Given the description of an element on the screen output the (x, y) to click on. 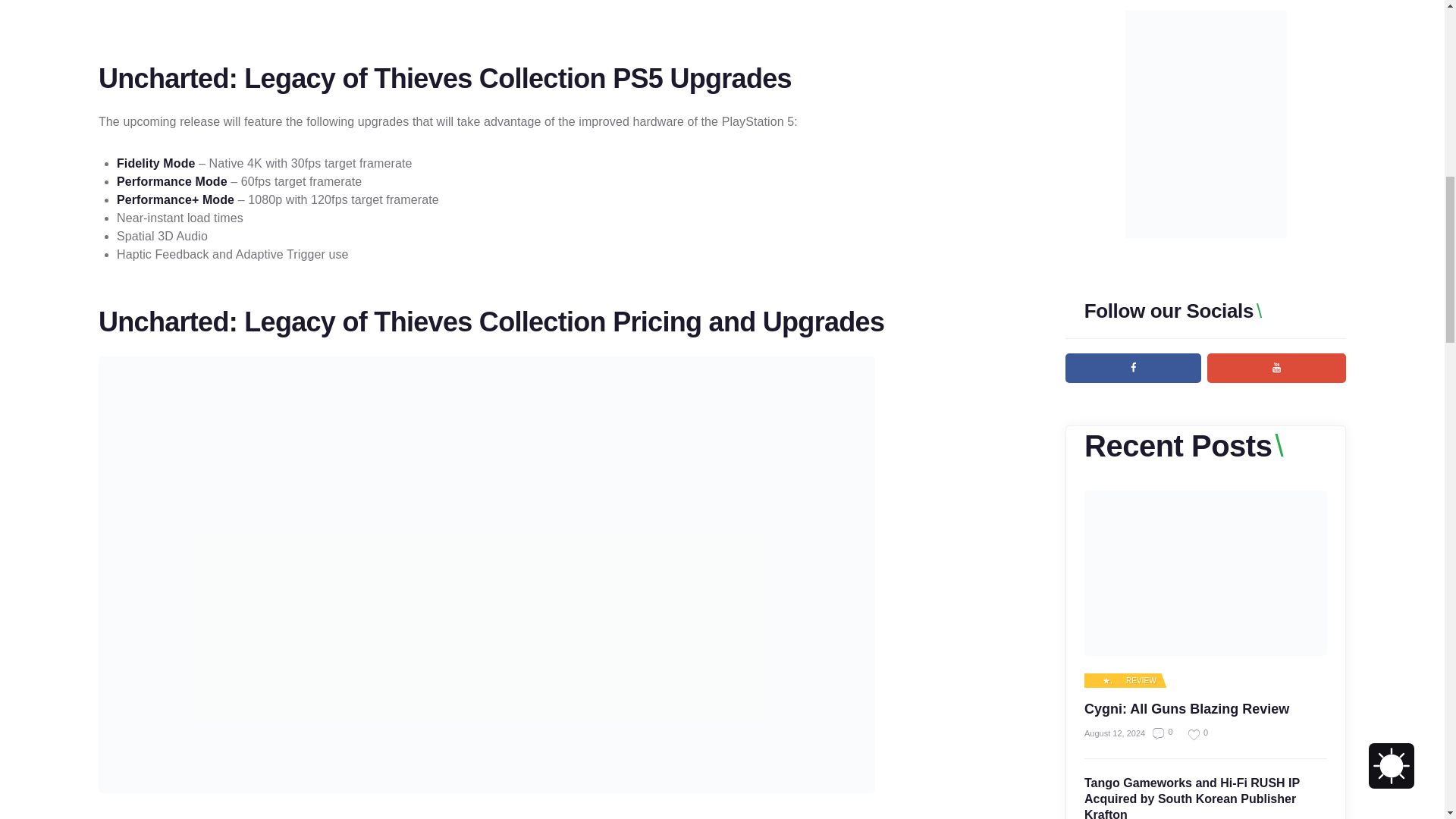
Like (1191, 734)
View all posts in Review (1135, 680)
